Given the description of an element on the screen output the (x, y) to click on. 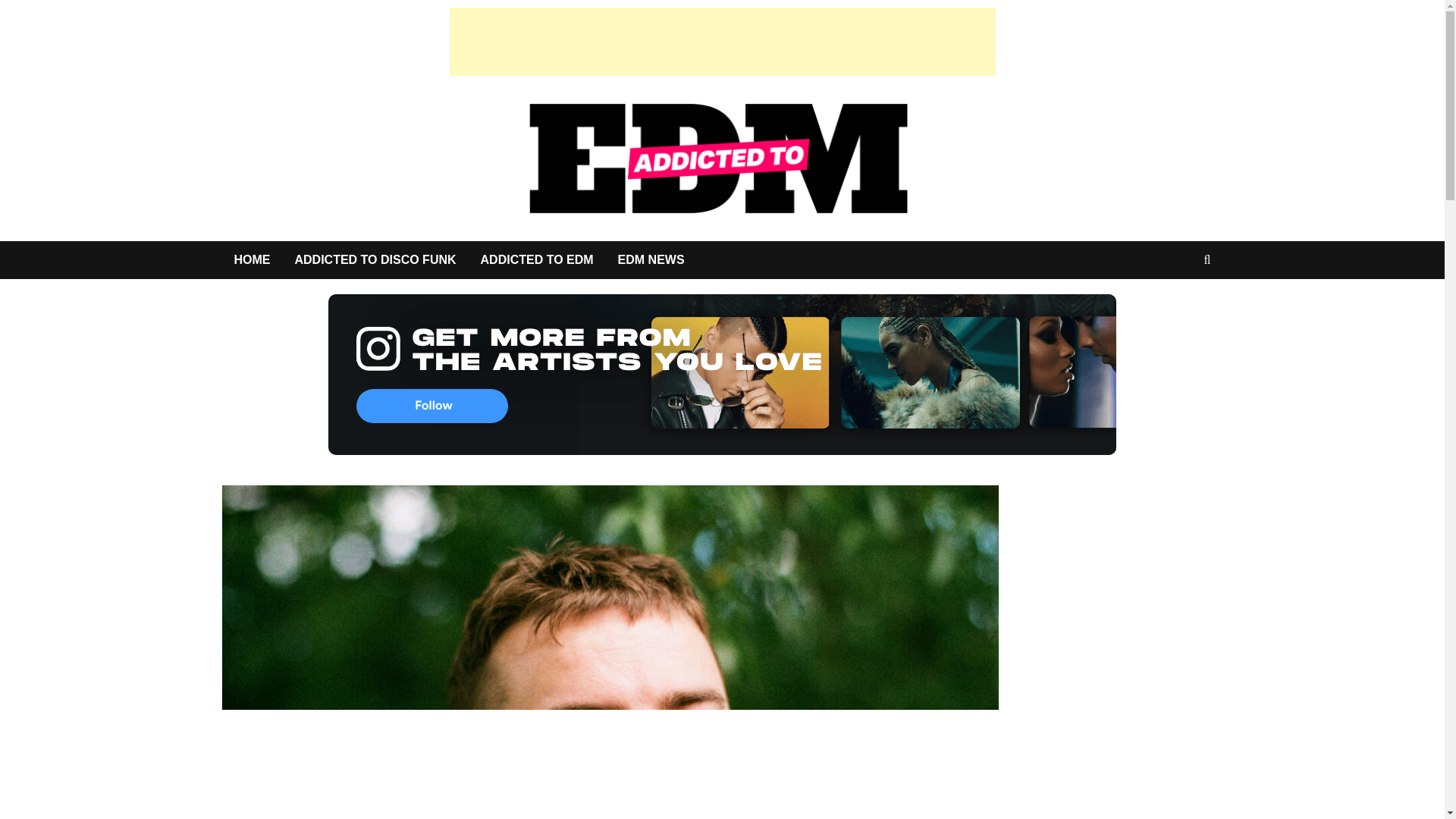
ADDICTED TO EDM (536, 259)
HOME (251, 259)
EDM NEWS (651, 259)
ADDICTED TO DISCO FUNK (374, 259)
